Given the description of an element on the screen output the (x, y) to click on. 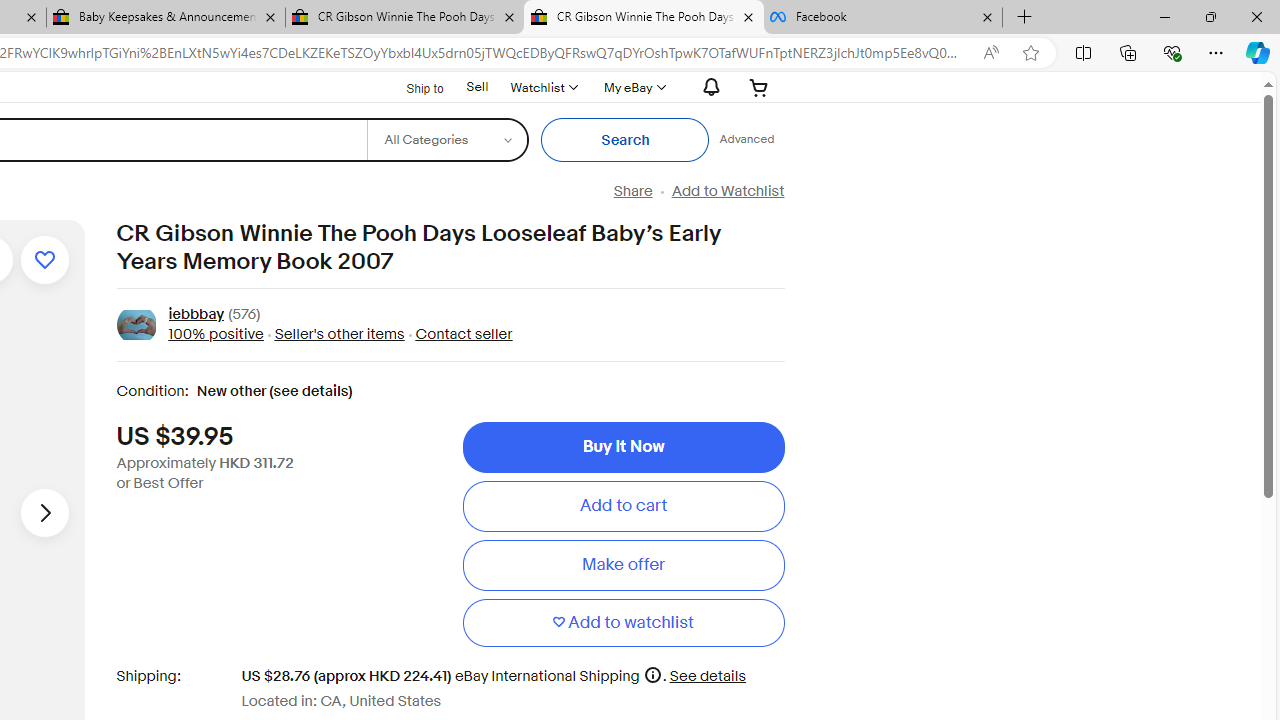
More information (652, 673)
Add to watchlist (623, 622)
Add to Watchlist (727, 191)
WatchlistExpand Watch List (543, 87)
  Seller's other items (333, 334)
Share (632, 191)
Facebook (883, 17)
Sell (476, 87)
iebbbay (196, 315)
